Given the description of an element on the screen output the (x, y) to click on. 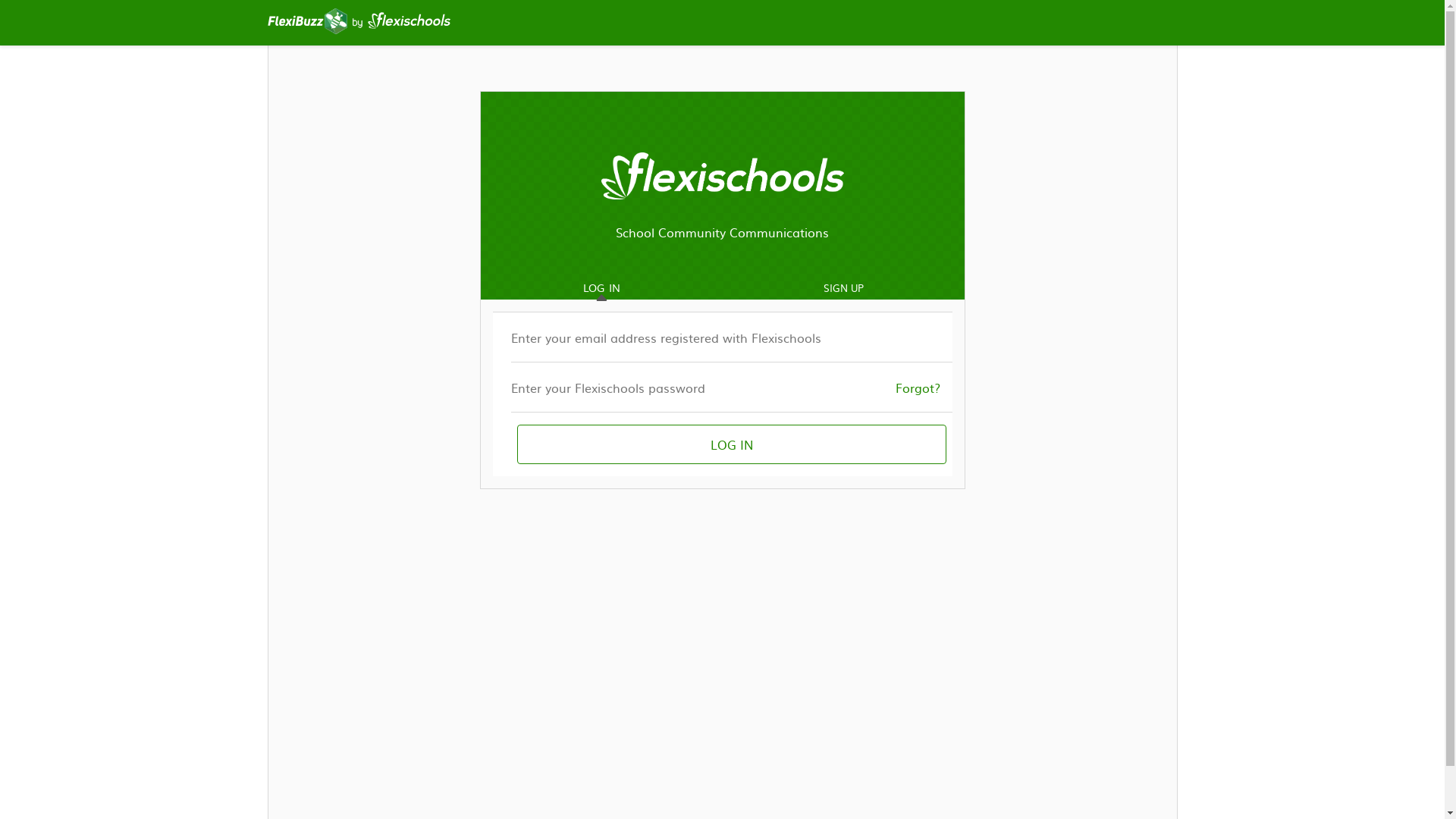
LOG IN Element type: text (589, 288)
Forgot? Element type: text (916, 386)
LOG IN Element type: text (731, 444)
SIGN UP Element type: text (842, 288)
